Given the description of an element on the screen output the (x, y) to click on. 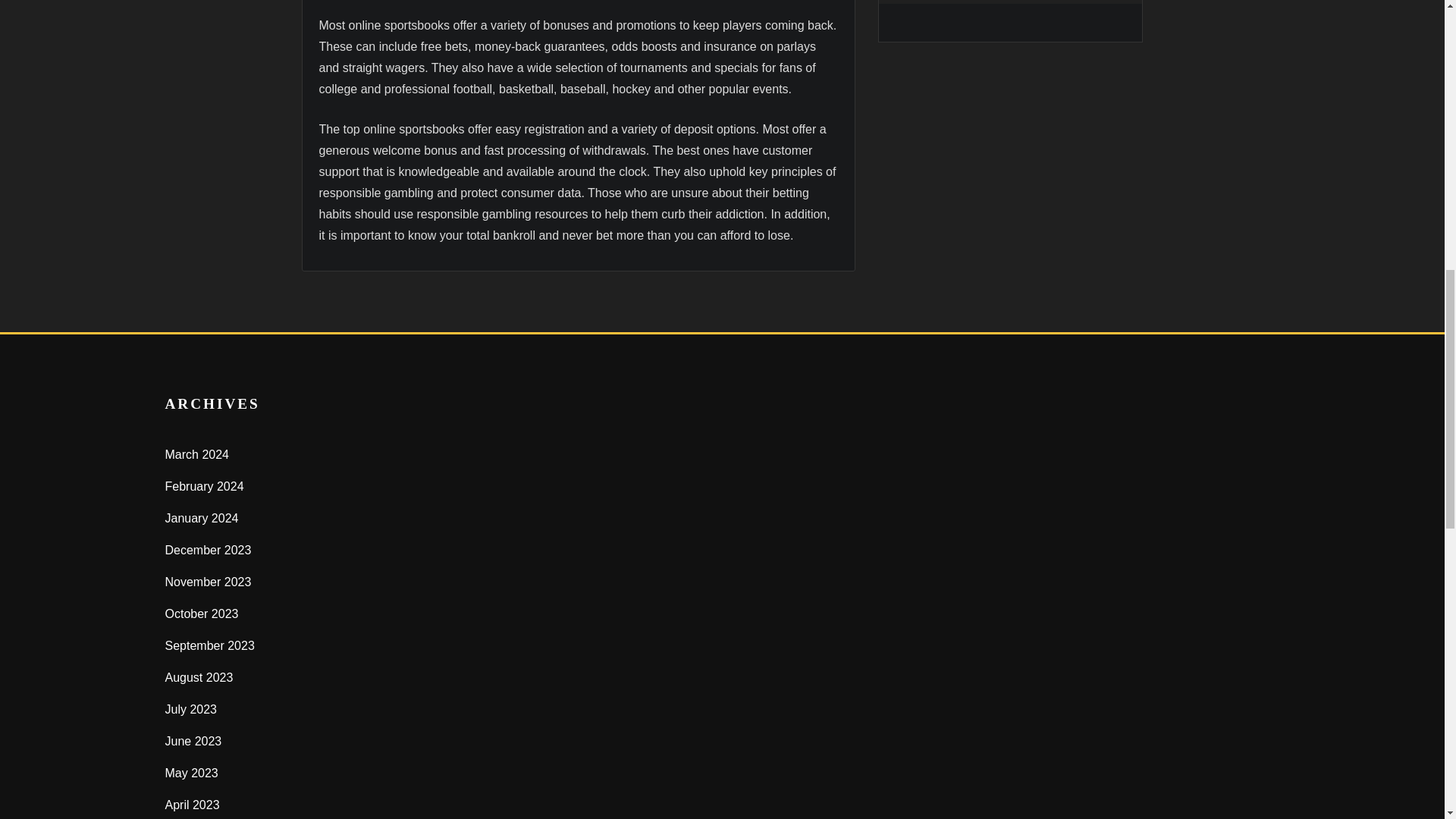
August 2023 (198, 676)
October 2023 (201, 613)
December 2023 (208, 549)
June 2023 (193, 740)
March 2024 (197, 454)
April 2023 (192, 804)
February 2024 (204, 486)
September 2023 (209, 645)
July 2023 (190, 708)
January 2024 (201, 517)
